Given the description of an element on the screen output the (x, y) to click on. 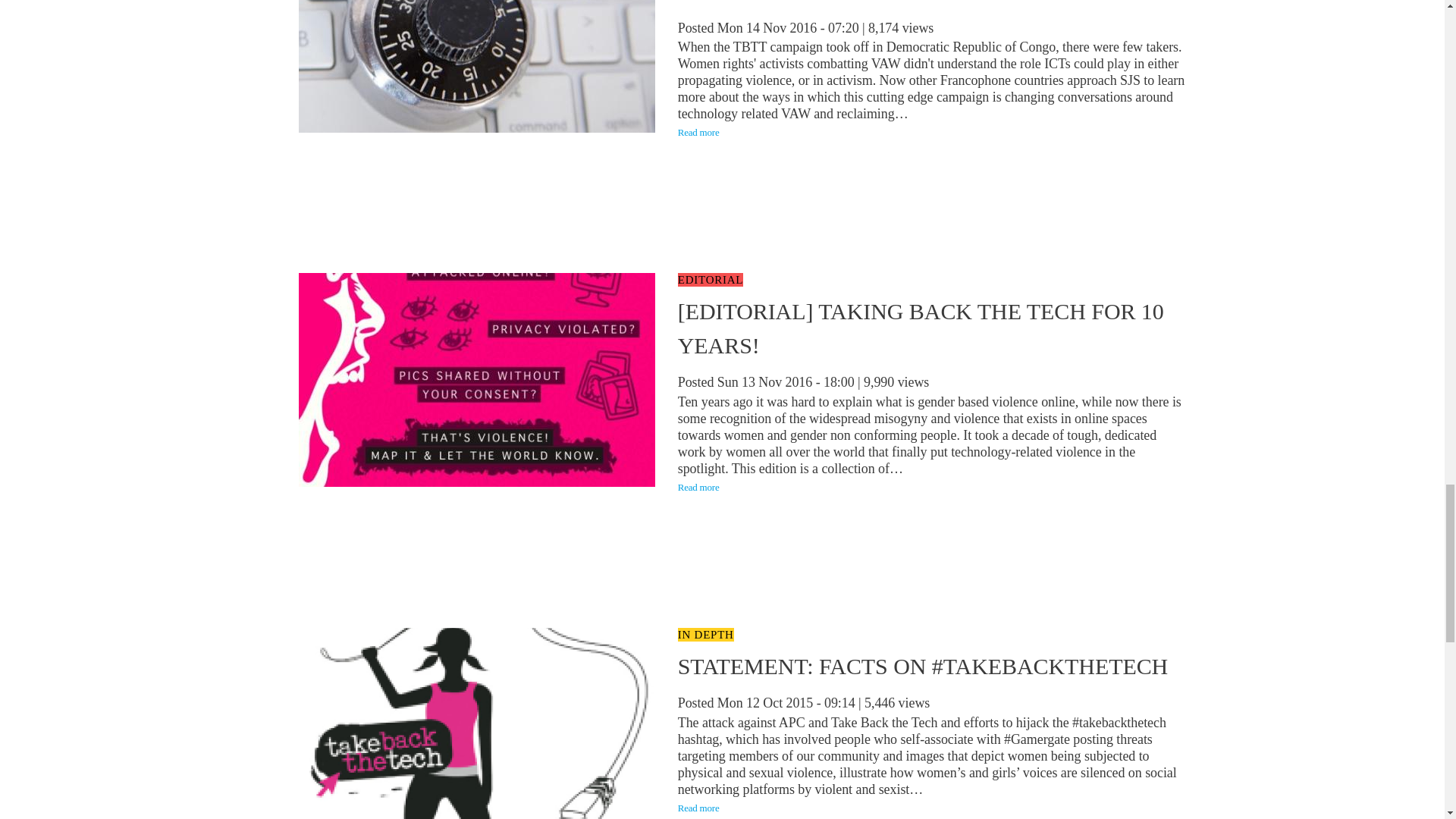
Read more (698, 487)
Read more (698, 132)
Read more (698, 808)
